Given the description of an element on the screen output the (x, y) to click on. 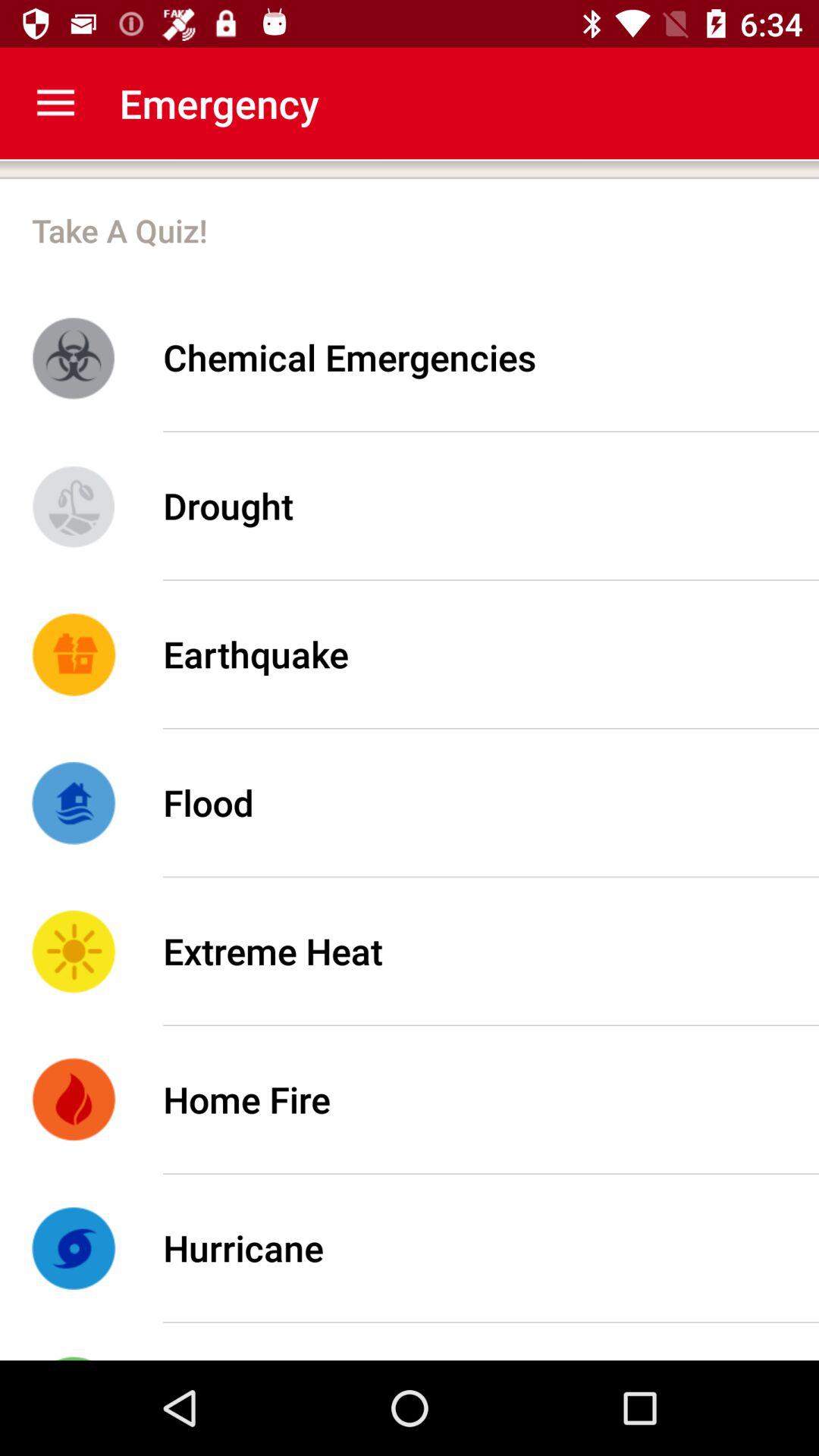
choose the item to the left of emergency icon (55, 103)
